Given the description of an element on the screen output the (x, y) to click on. 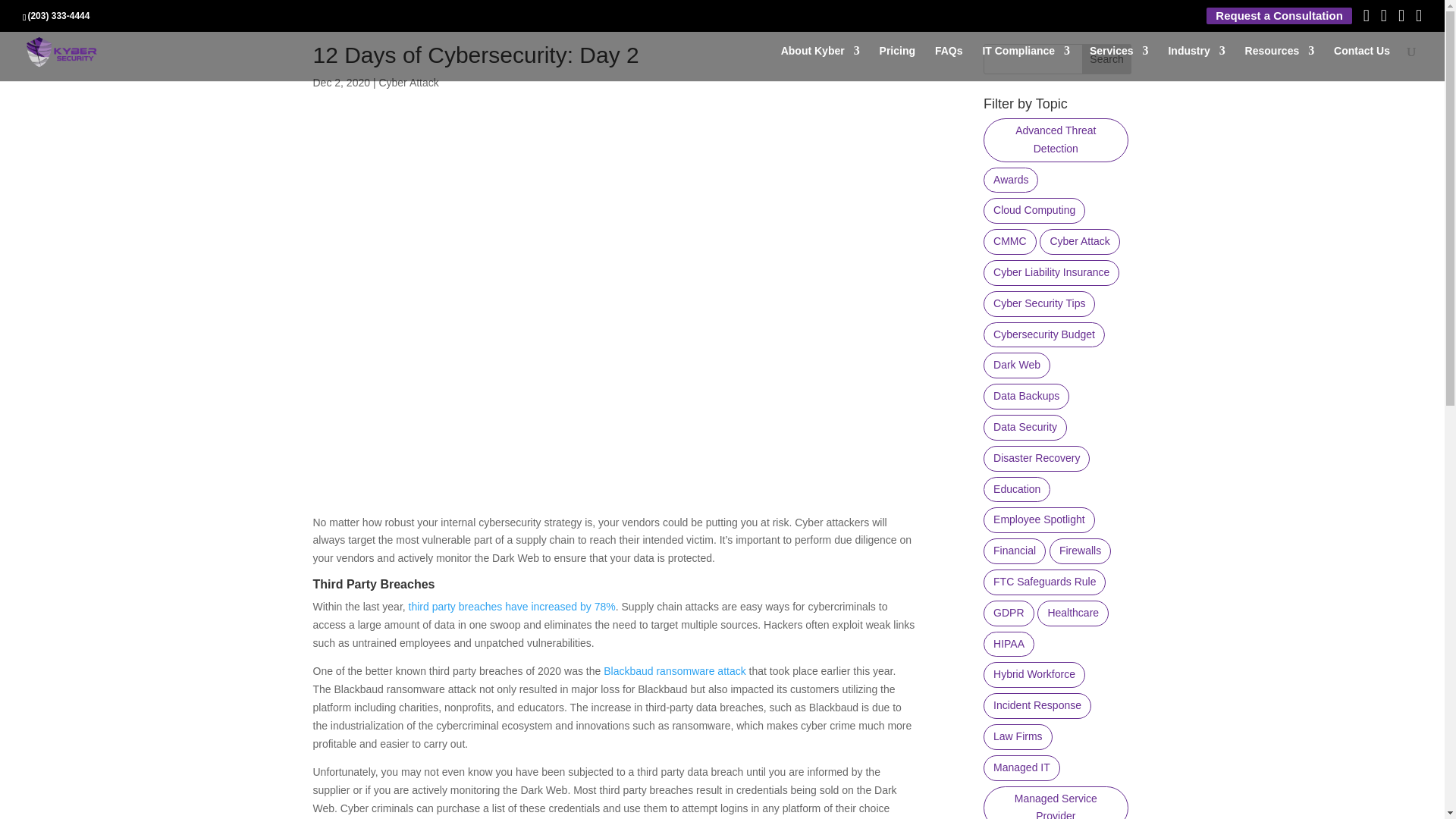
About Kyber (820, 63)
Pricing (897, 63)
Request a Consultation (1278, 15)
IT Compliance (1025, 63)
Industry (1195, 63)
Search (1106, 59)
Resources (1279, 63)
Services (1118, 63)
